Given the description of an element on the screen output the (x, y) to click on. 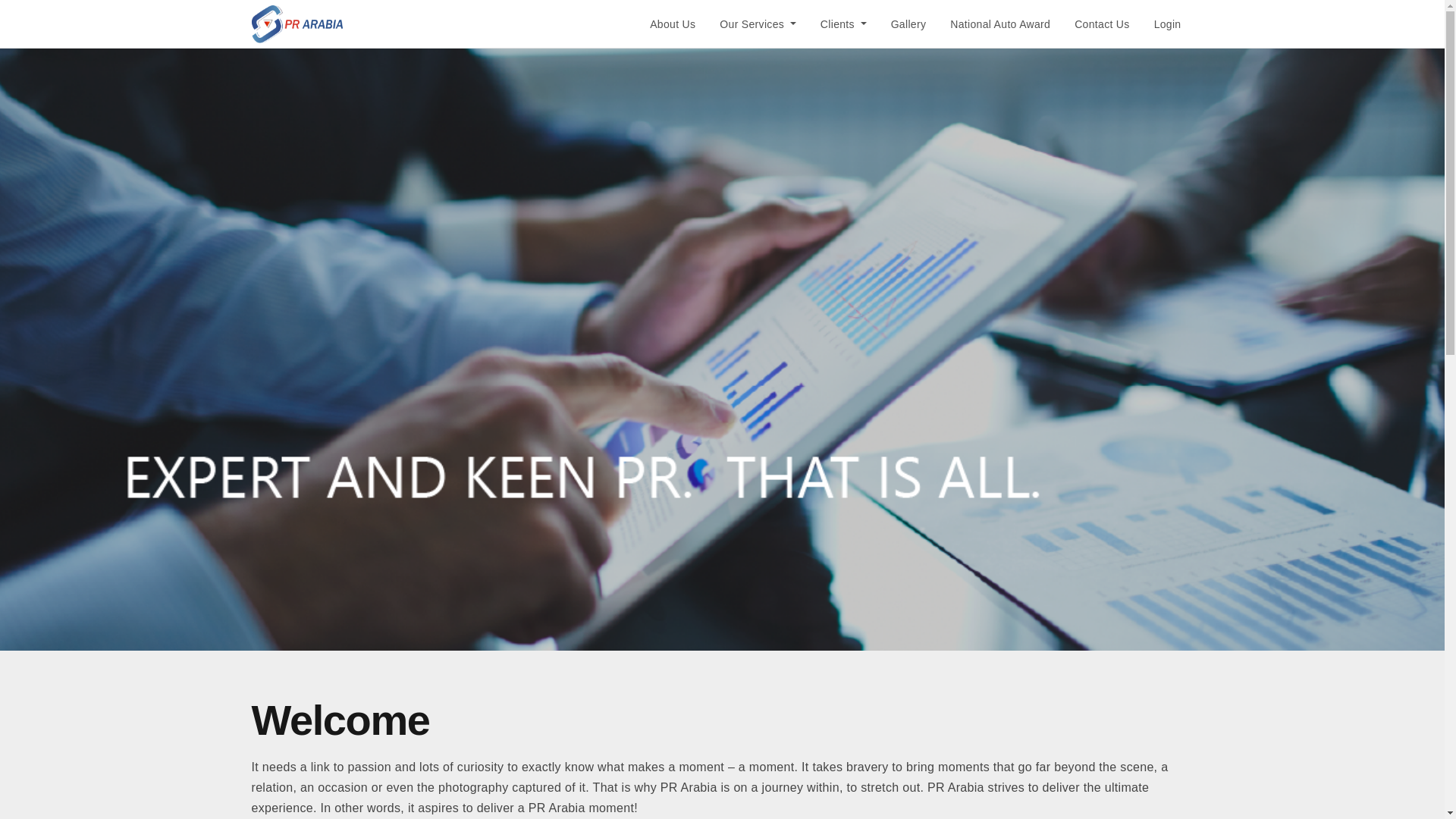
Contact Us (1101, 23)
National Auto Award (999, 23)
Our Services (757, 23)
Login (1167, 23)
Clients (843, 23)
Gallery (909, 23)
About Us (672, 23)
